Given the description of an element on the screen output the (x, y) to click on. 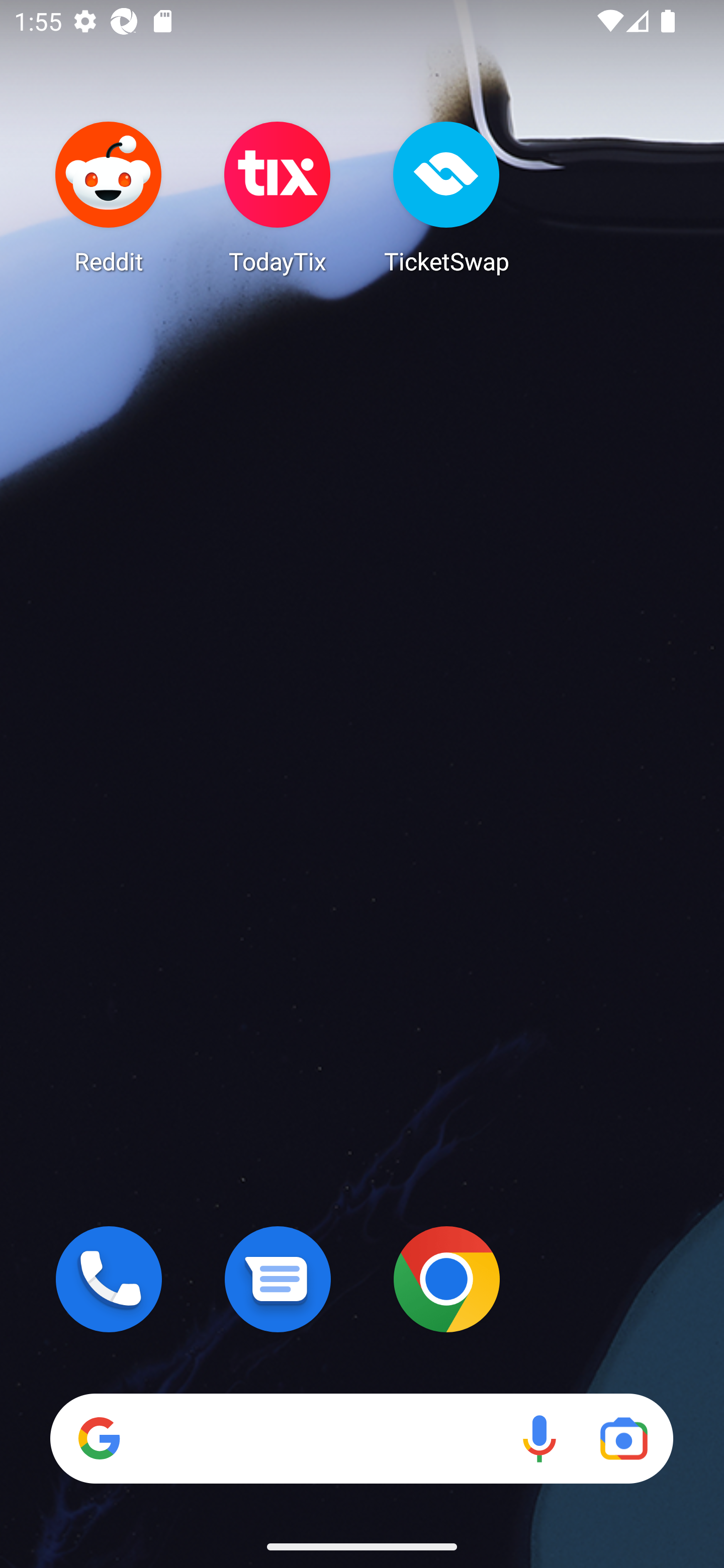
Reddit (108, 196)
TodayTix (277, 196)
TicketSwap (445, 196)
Phone (108, 1279)
Messages (277, 1279)
Chrome (446, 1279)
Voice search (539, 1438)
Google Lens (623, 1438)
